Given the description of an element on the screen output the (x, y) to click on. 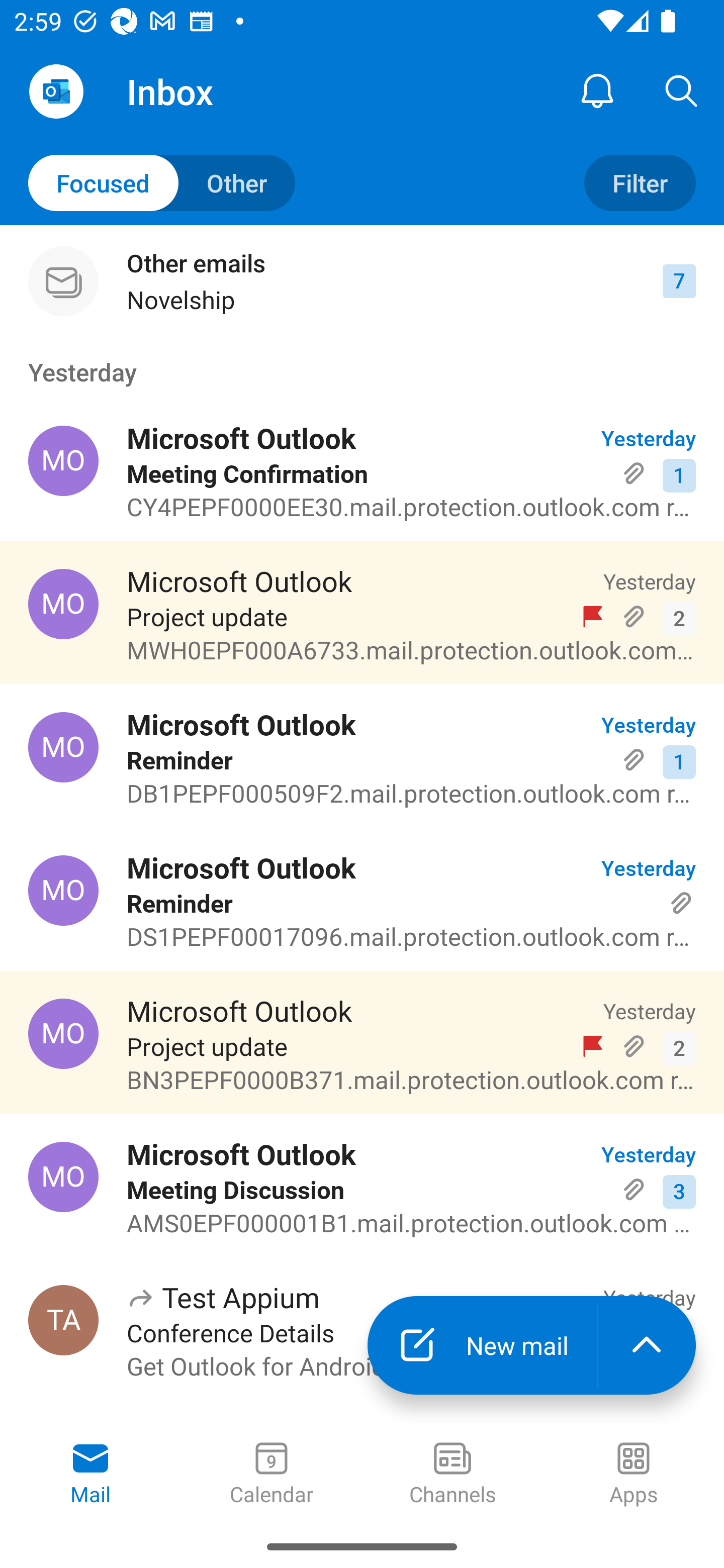
Notification Center (597, 90)
Search, ,  (681, 90)
Open Navigation Drawer (55, 91)
Toggle to other mails (161, 183)
Filter (639, 183)
Other emails Novelship 7 (362, 281)
Test Appium, testappium002@outlook.com (63, 1319)
New mail (481, 1344)
launch the extended action menu (646, 1344)
Calendar (271, 1474)
Channels (452, 1474)
Apps (633, 1474)
